Given the description of an element on the screen output the (x, y) to click on. 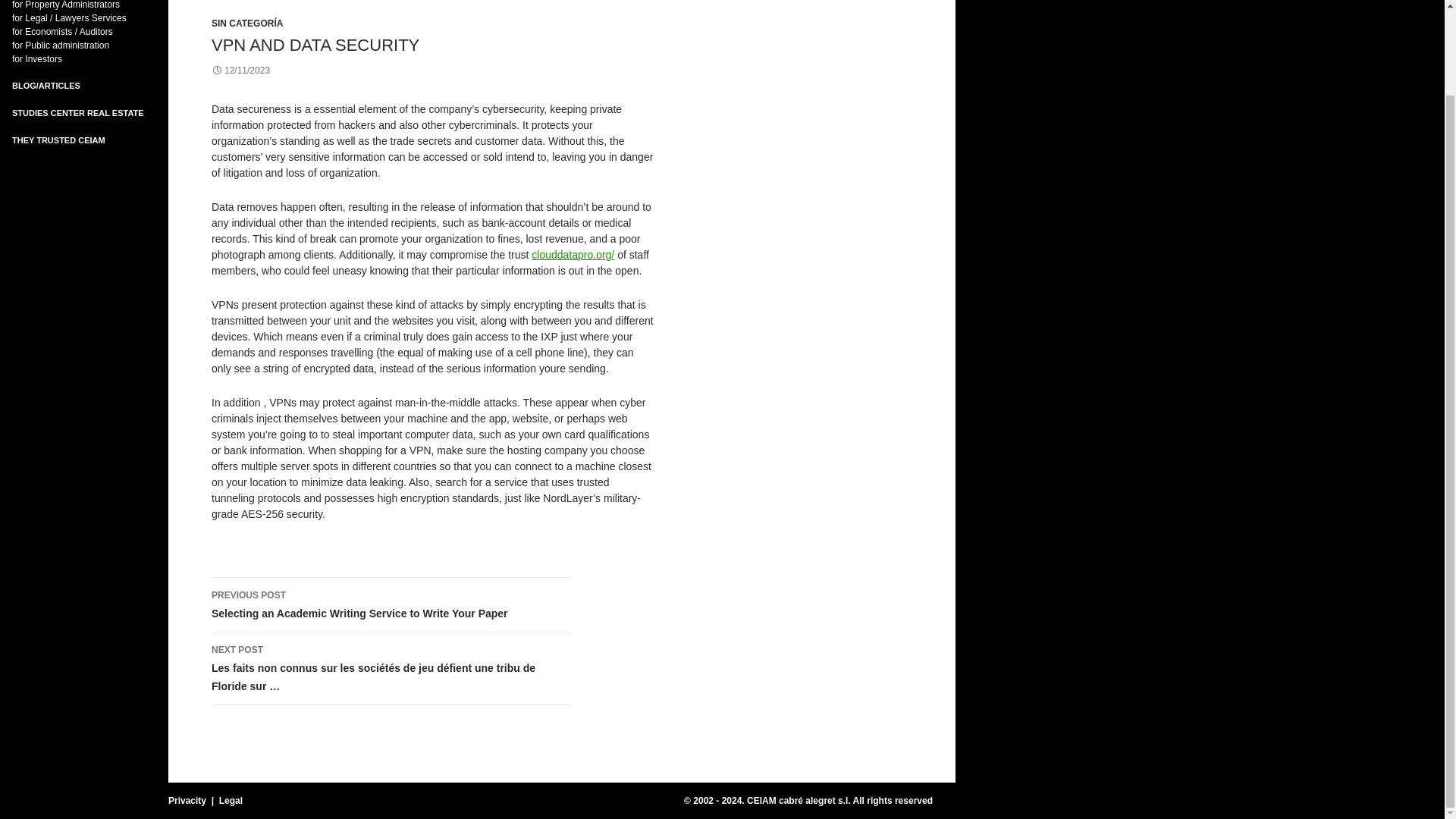
STUDIES CENTER REAL ESTATE (77, 112)
Legal (231, 800)
for Property Administrators (65, 4)
THEY TRUSTED CEIAM (57, 139)
for Investors (36, 59)
for Public administration (60, 45)
Privacity (187, 800)
